Given the description of an element on the screen output the (x, y) to click on. 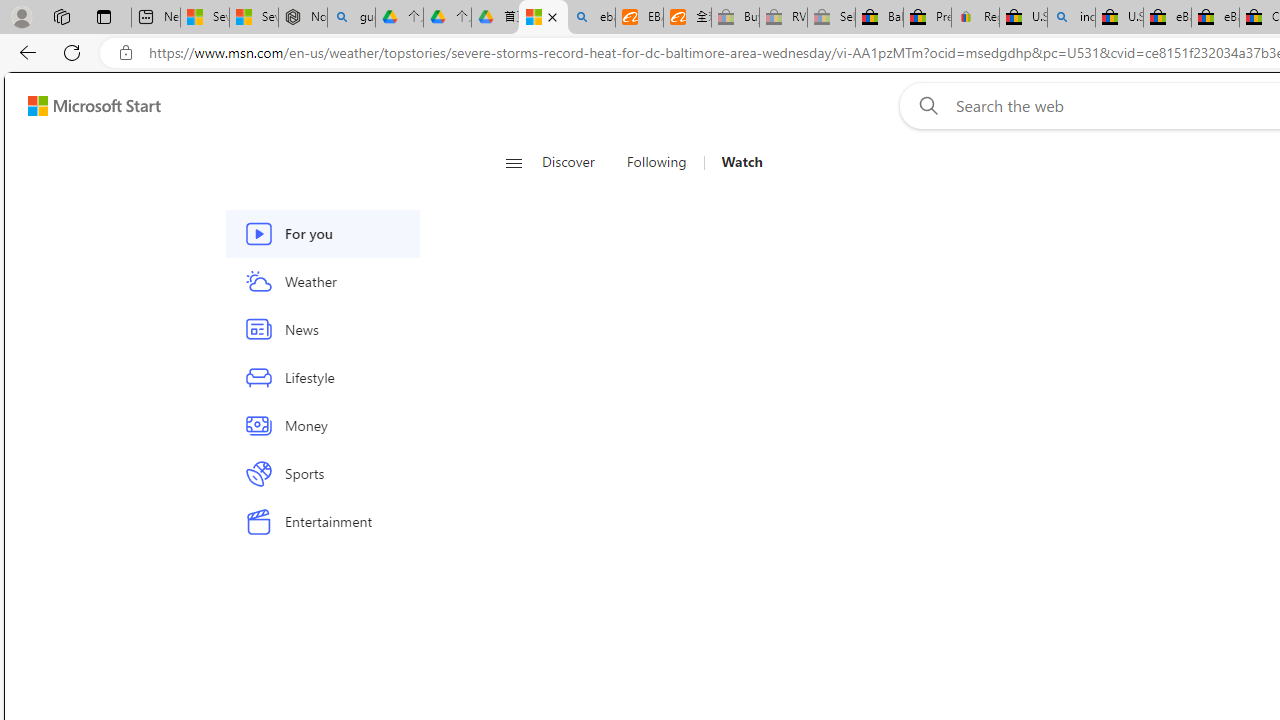
including - Search (1071, 17)
Sell worldwide with eBay - Sleeping (831, 17)
